Given the description of an element on the screen output the (x, y) to click on. 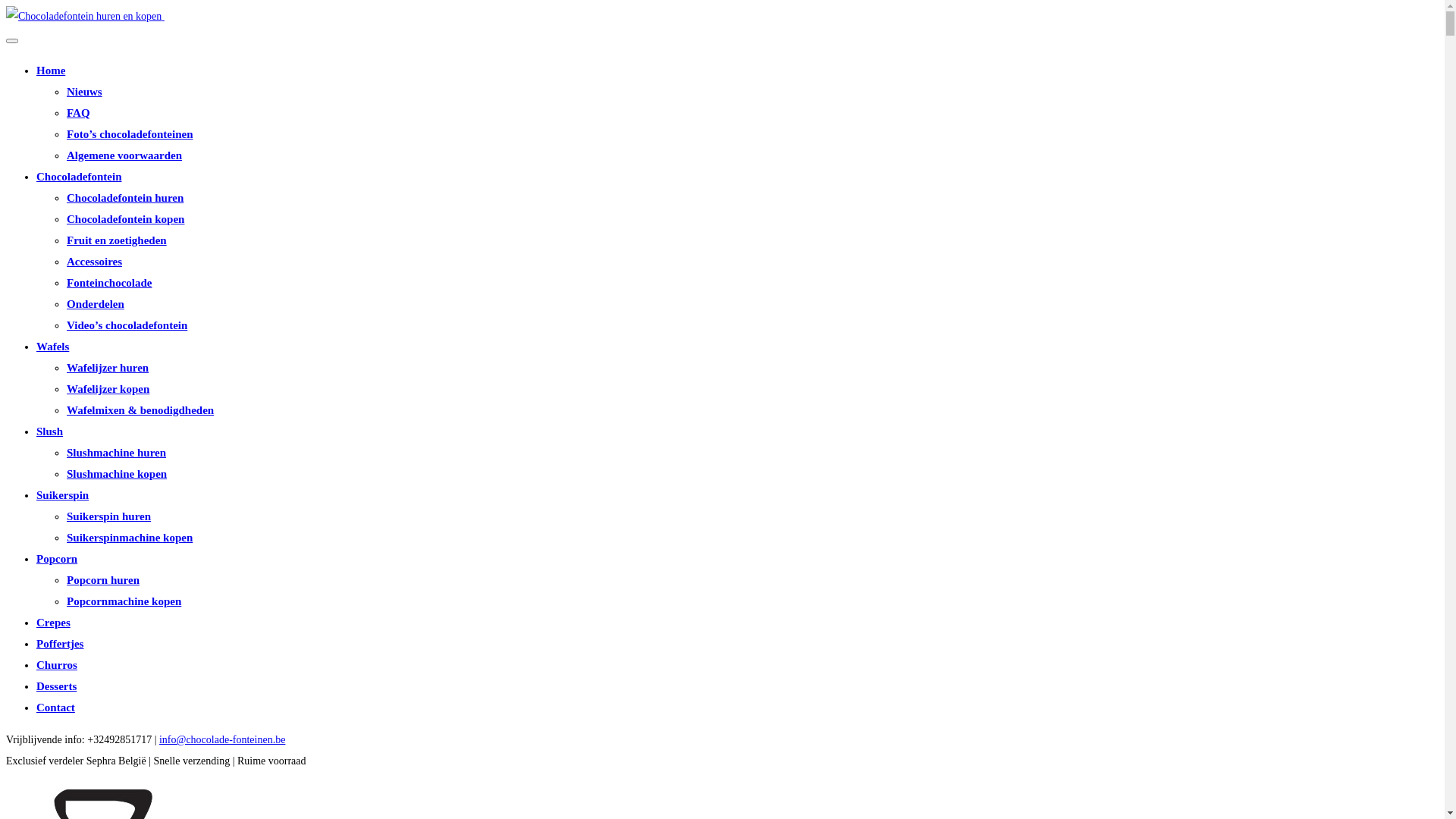
Poffertjes Element type: text (59, 643)
Wafelijzer huren Element type: text (107, 367)
Churros Element type: text (56, 664)
Onderdelen Element type: text (95, 304)
Suikerspin huren Element type: text (108, 516)
Algemene voorwaarden Element type: text (124, 155)
Wafels Element type: text (52, 346)
Slushmachine kopen Element type: text (116, 473)
Popcorn Element type: text (56, 558)
Chocoladefontein huren Element type: text (124, 197)
Popcornmachine kopen Element type: text (123, 601)
Wafelmixen & benodigdheden Element type: text (139, 410)
Desserts Element type: text (56, 686)
Accessoires Element type: text (94, 261)
Home Element type: text (50, 70)
FAQ Element type: text (78, 112)
Slush Element type: text (49, 431)
Popcorn huren Element type: text (102, 580)
Suikerspinmachine kopen Element type: text (129, 537)
Wafelijzer kopen Element type: text (107, 388)
Crepes Element type: text (53, 622)
Chocoladefontein Element type: text (79, 176)
Fonteinchocolade Element type: text (109, 282)
Contact Element type: text (55, 707)
Nieuws Element type: text (84, 91)
info@chocolade-fonteinen.be Element type: text (222, 739)
Fruit en zoetigheden Element type: text (116, 240)
Slushmachine huren Element type: text (116, 452)
Suikerspin Element type: text (62, 495)
Chocoladefontein kopen Element type: text (125, 219)
